Given the description of an element on the screen output the (x, y) to click on. 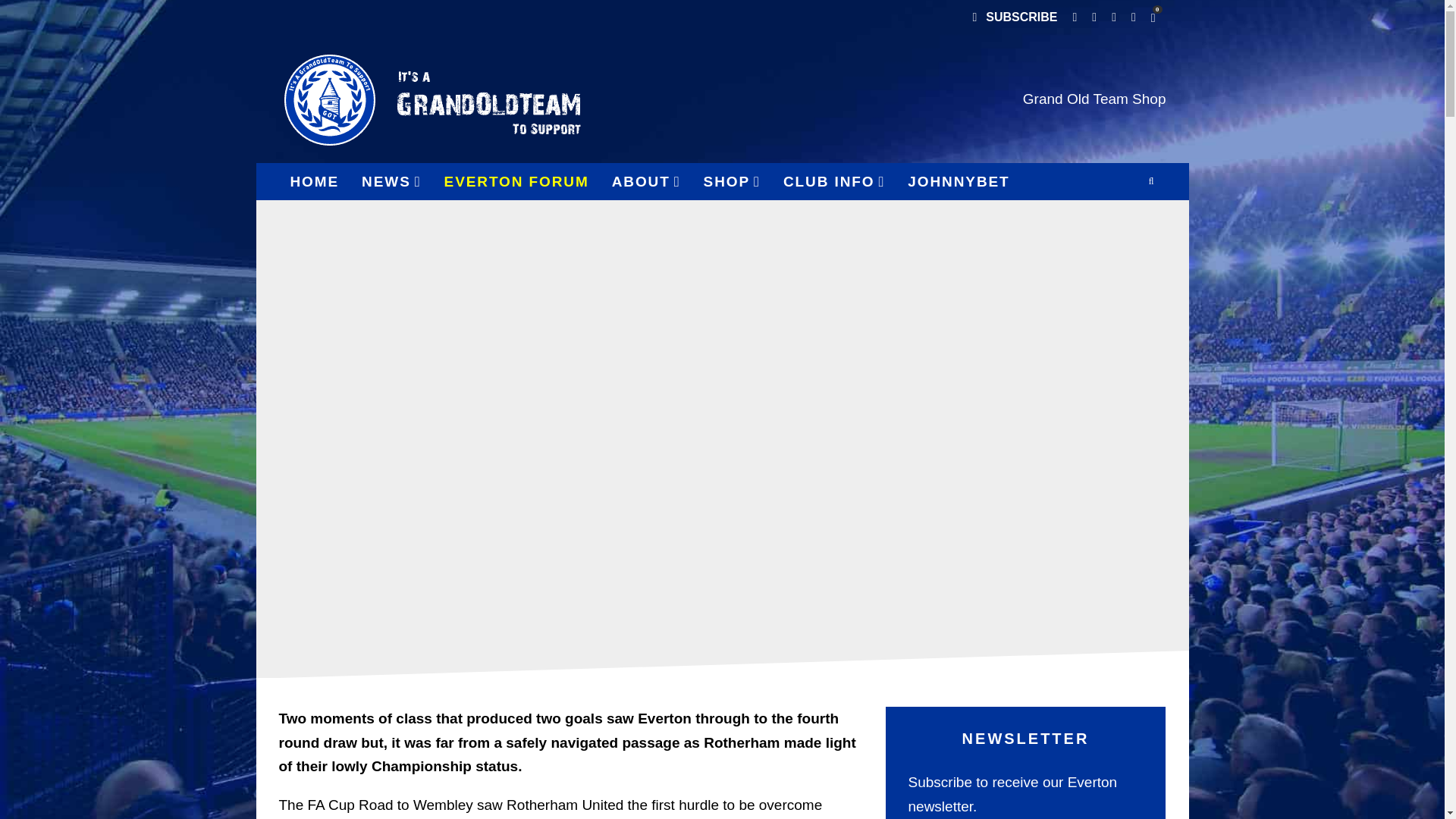
ABOUT (646, 181)
EVERTON FORUM (515, 181)
SUBSCRIBE (1013, 18)
SHOP (732, 181)
Grand Old Team Shop (1094, 98)
CLUB INFO (833, 181)
HOME (314, 181)
NEWS (391, 181)
About (646, 181)
